Given the description of an element on the screen output the (x, y) to click on. 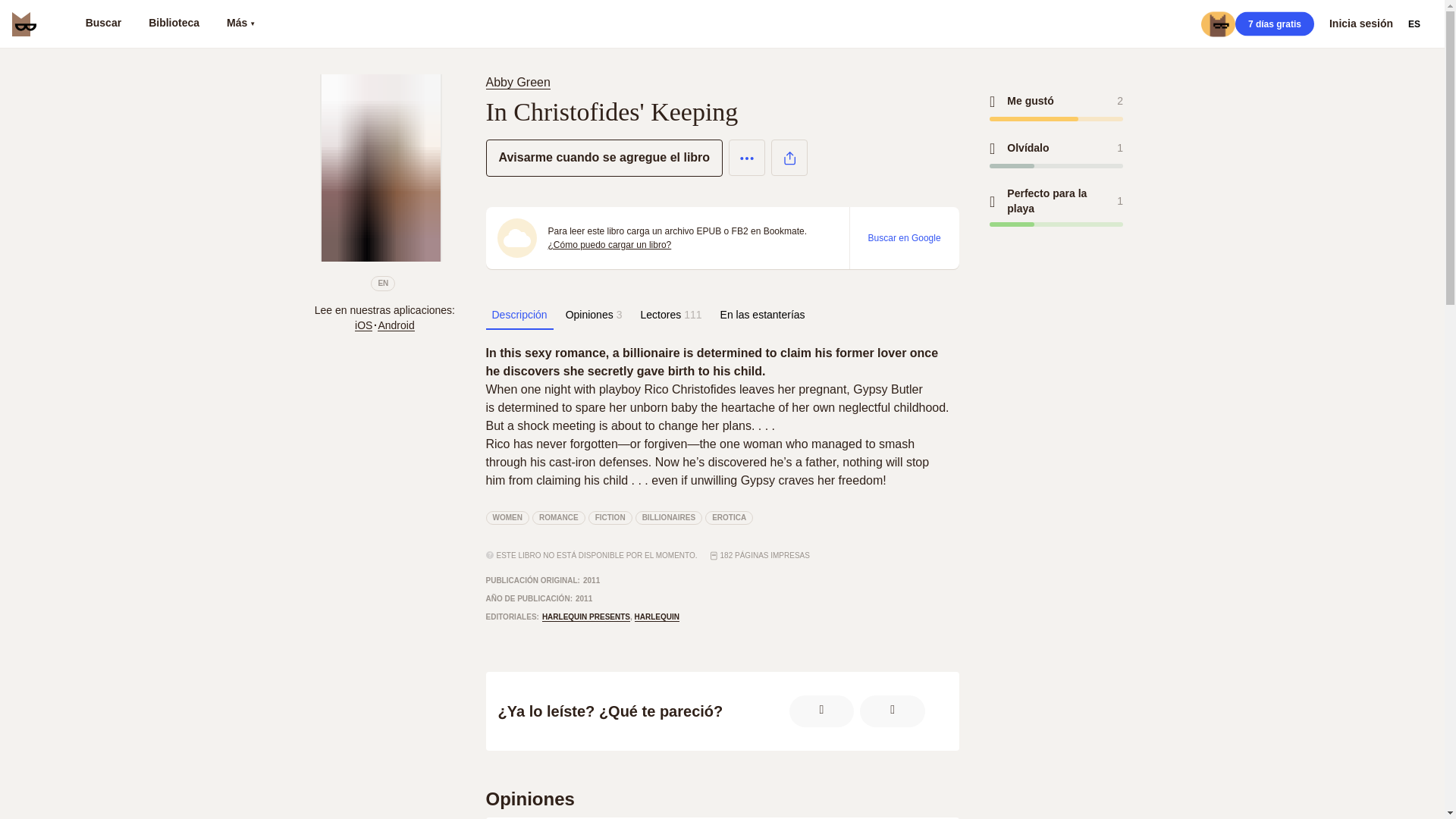
Opiniones3 (593, 314)
Buscar en Google (903, 237)
ROMANCE (558, 517)
Abby Green (520, 82)
BILLIONAIRES (668, 517)
HARLEQUIN (656, 616)
FICTION (609, 517)
Abby Green (517, 82)
WOMEN (506, 517)
HARLEQUIN PRESENTS (585, 616)
